Given the description of an element on the screen output the (x, y) to click on. 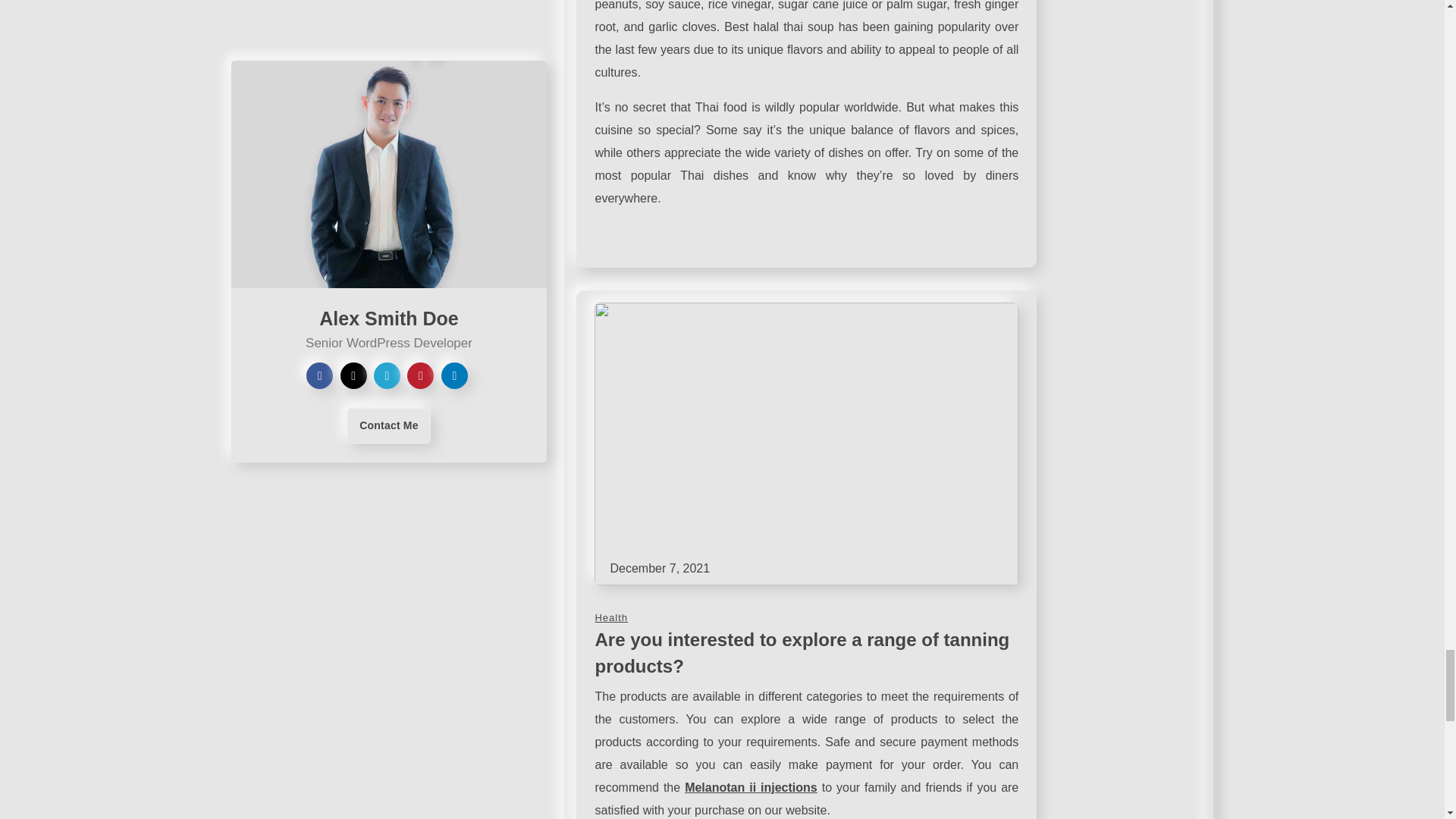
Melanotan ii injections (750, 787)
Health (610, 617)
Are you interested to explore a range of tanning products? (801, 652)
